Given the description of an element on the screen output the (x, y) to click on. 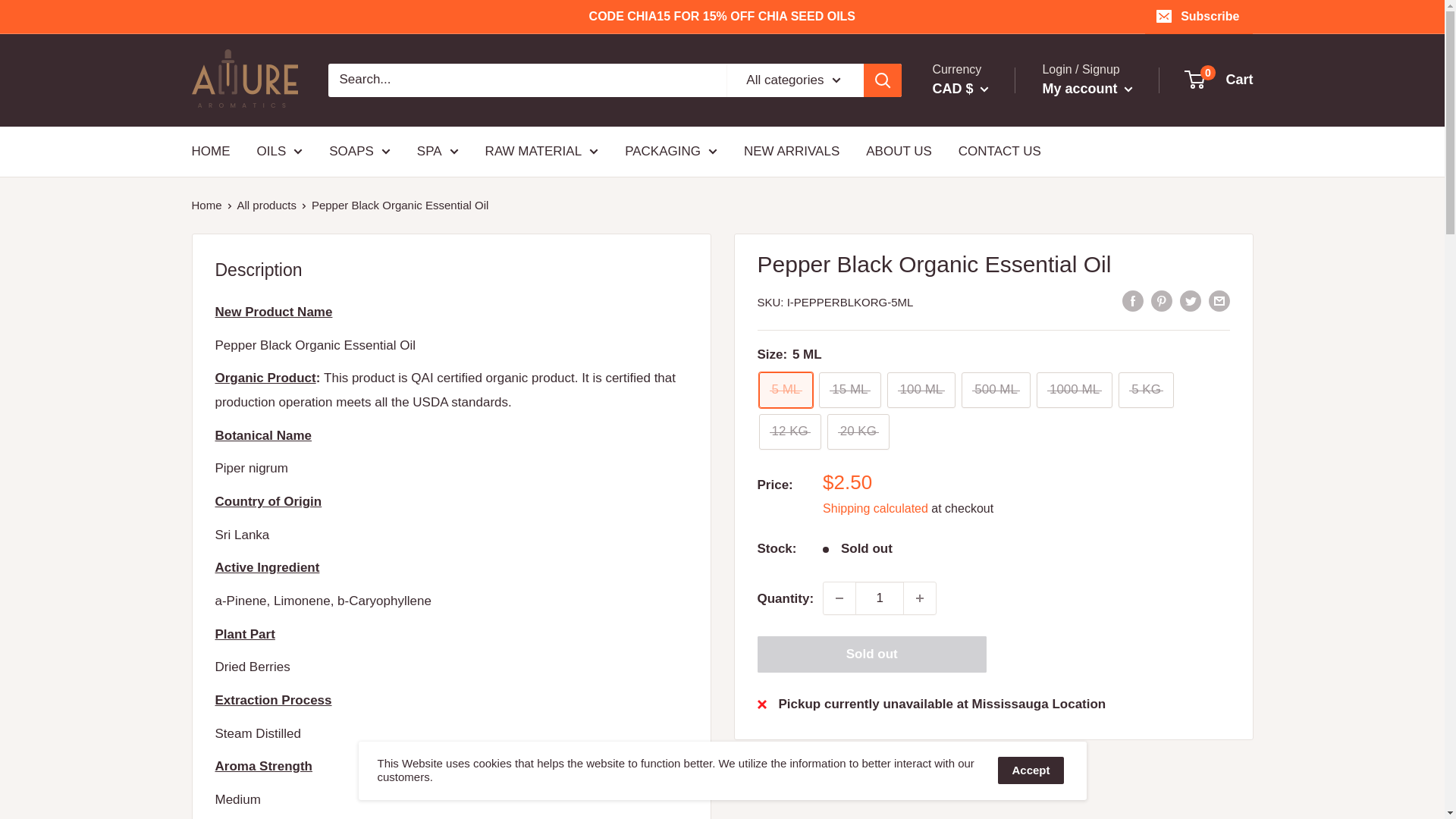
5 KG (1145, 389)
Increase quantity by 1 (920, 598)
500 ML (995, 389)
15 ML (849, 389)
1000 ML (1074, 389)
12 KG (789, 431)
5 ML (785, 389)
Decrease quantity by 1 (840, 598)
1 (880, 598)
100 ML (921, 389)
